Given the description of an element on the screen output the (x, y) to click on. 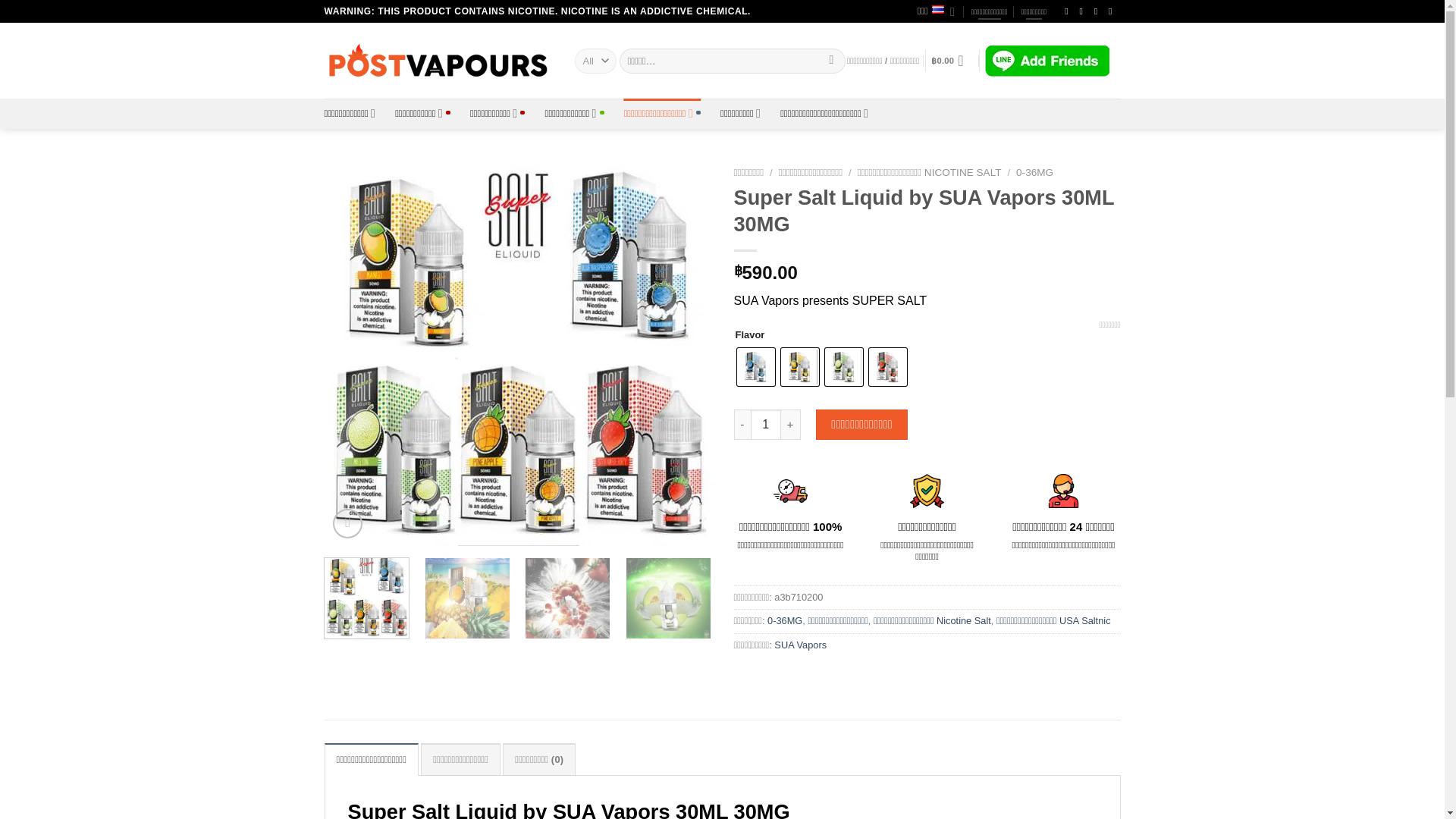
Strawberry (888, 366)
Zoom (347, 523)
Melon (844, 366)
Mango (799, 366)
1 (765, 424)
Blue Raspberry (755, 366)
